Given the description of an element on the screen output the (x, y) to click on. 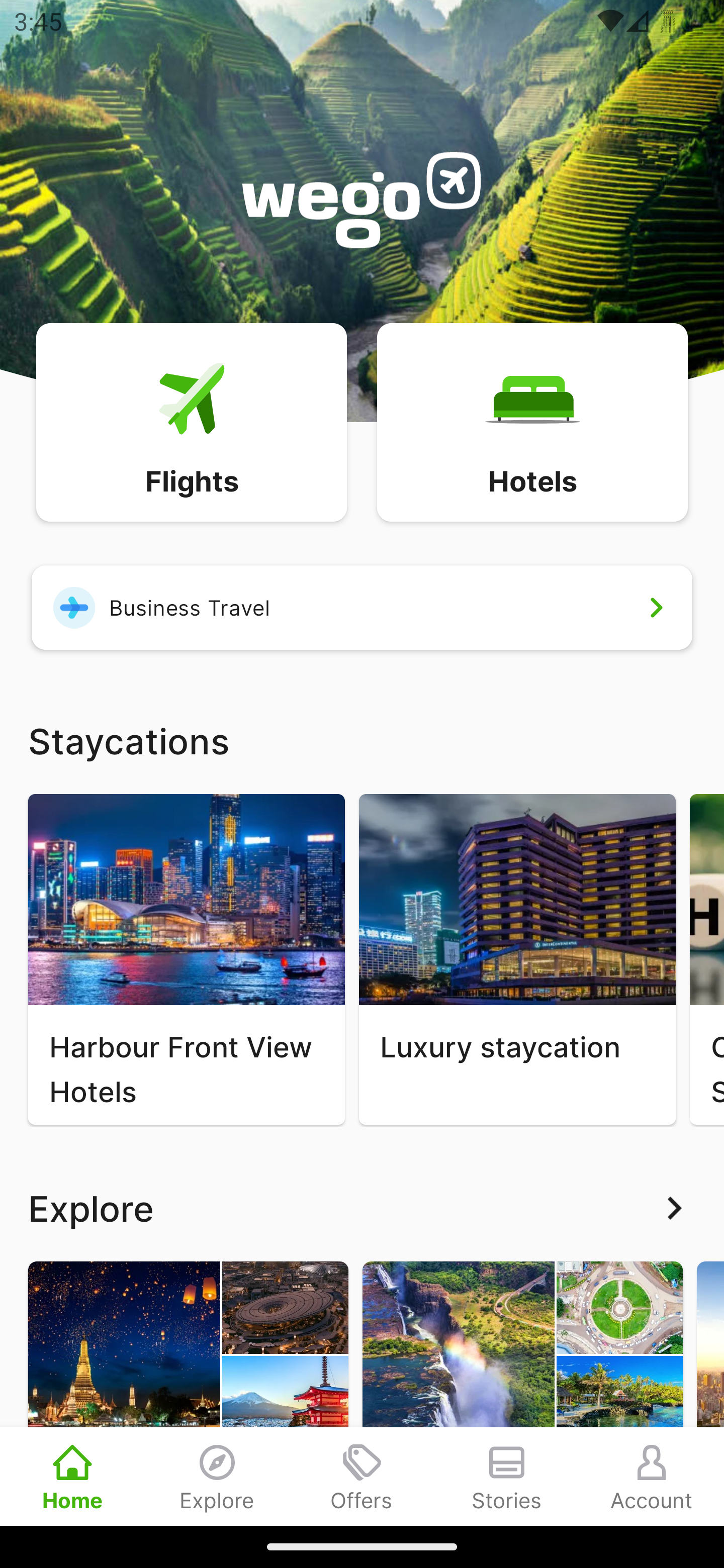
Flights (191, 420)
Hotels (532, 420)
Business Travel (361, 607)
Staycations (362, 739)
Harbour Front View Hotels (186, 958)
Luxury staycation (517, 958)
Explore (362, 1207)
Popular Destinations (188, 1392)
Visa-free Countries (522, 1392)
Explore (216, 1475)
Offers (361, 1475)
Stories (506, 1475)
Account (651, 1475)
